Given the description of an element on the screen output the (x, y) to click on. 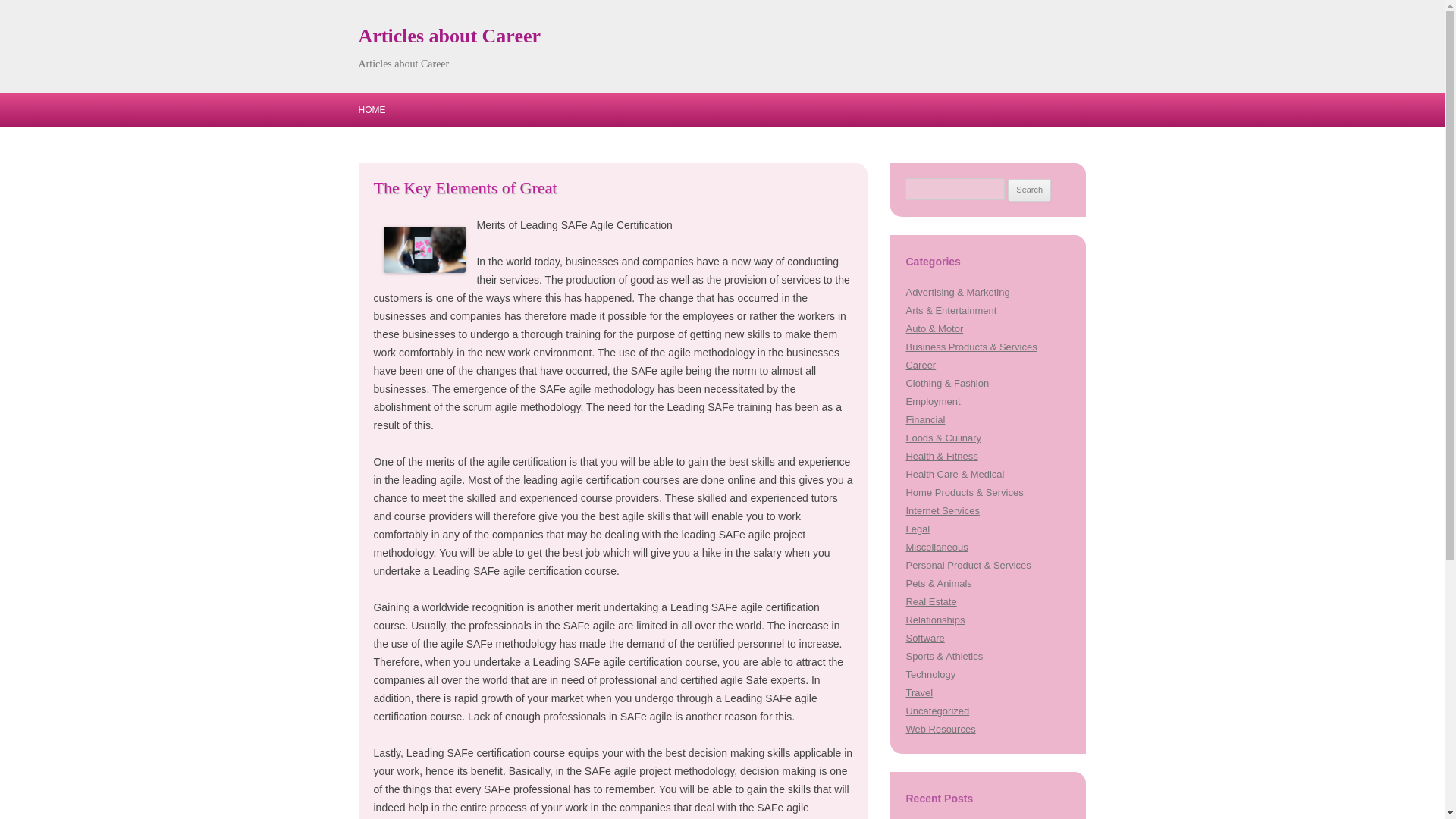
Articles about Career (449, 36)
Financial (924, 419)
Miscellaneous (936, 546)
Web Resources (940, 728)
Search (1029, 190)
Software (924, 637)
Travel (919, 692)
Technology (930, 674)
Career (920, 365)
Uncategorized (937, 710)
Real Estate (930, 601)
Internet Services (941, 510)
Relationships (934, 619)
